Given the description of an element on the screen output the (x, y) to click on. 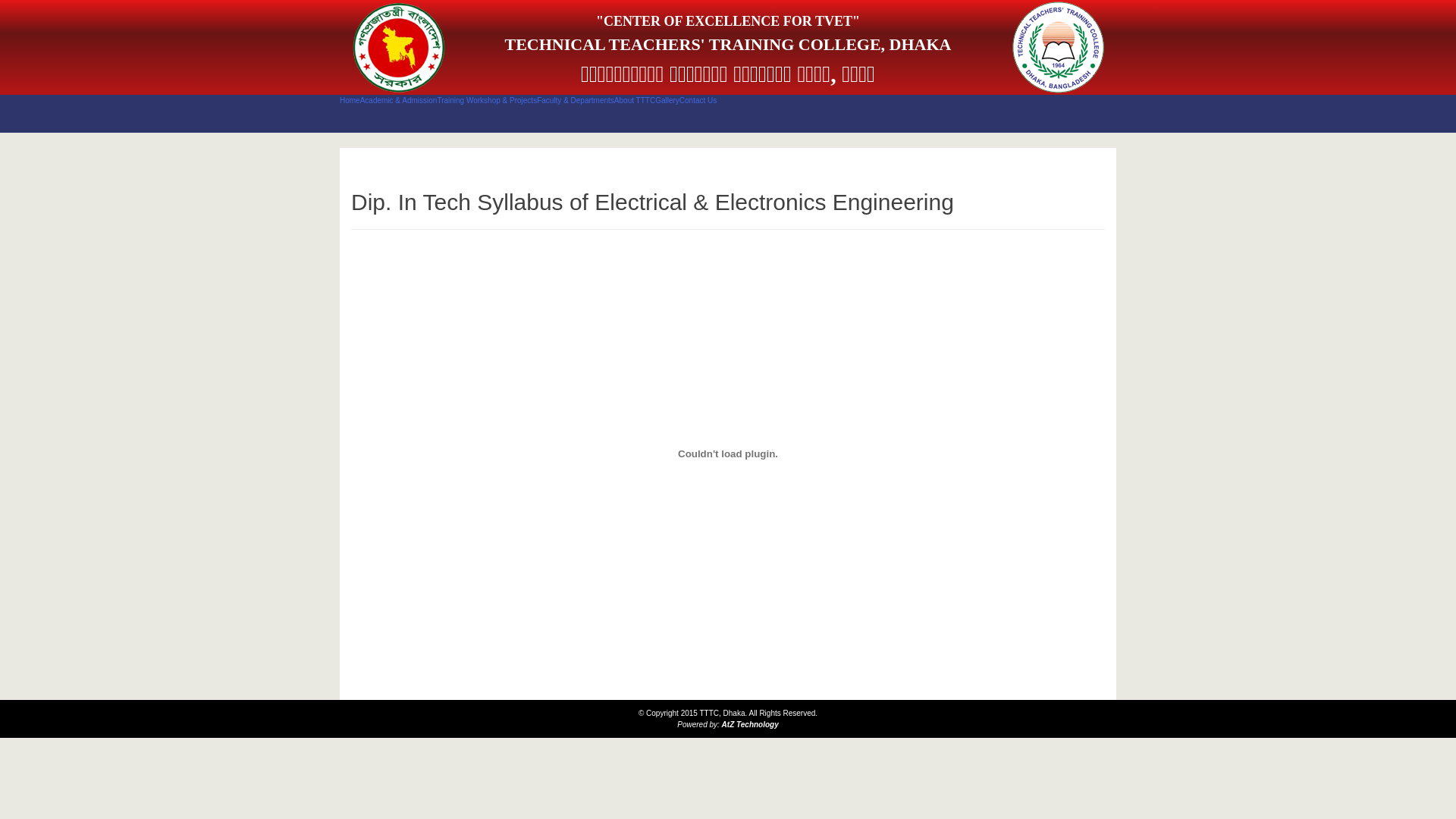
Gallery Element type: text (667, 100)
Home Element type: text (349, 100)
Academic & Admission Element type: text (398, 100)
AtZ Technology Element type: text (749, 724)
Contact Us Element type: text (697, 100)
Faculty & Departments Element type: text (575, 100)
About TTTC Element type: text (634, 100)
Training Workshop & Projects Element type: text (486, 100)
